Given the description of an element on the screen output the (x, y) to click on. 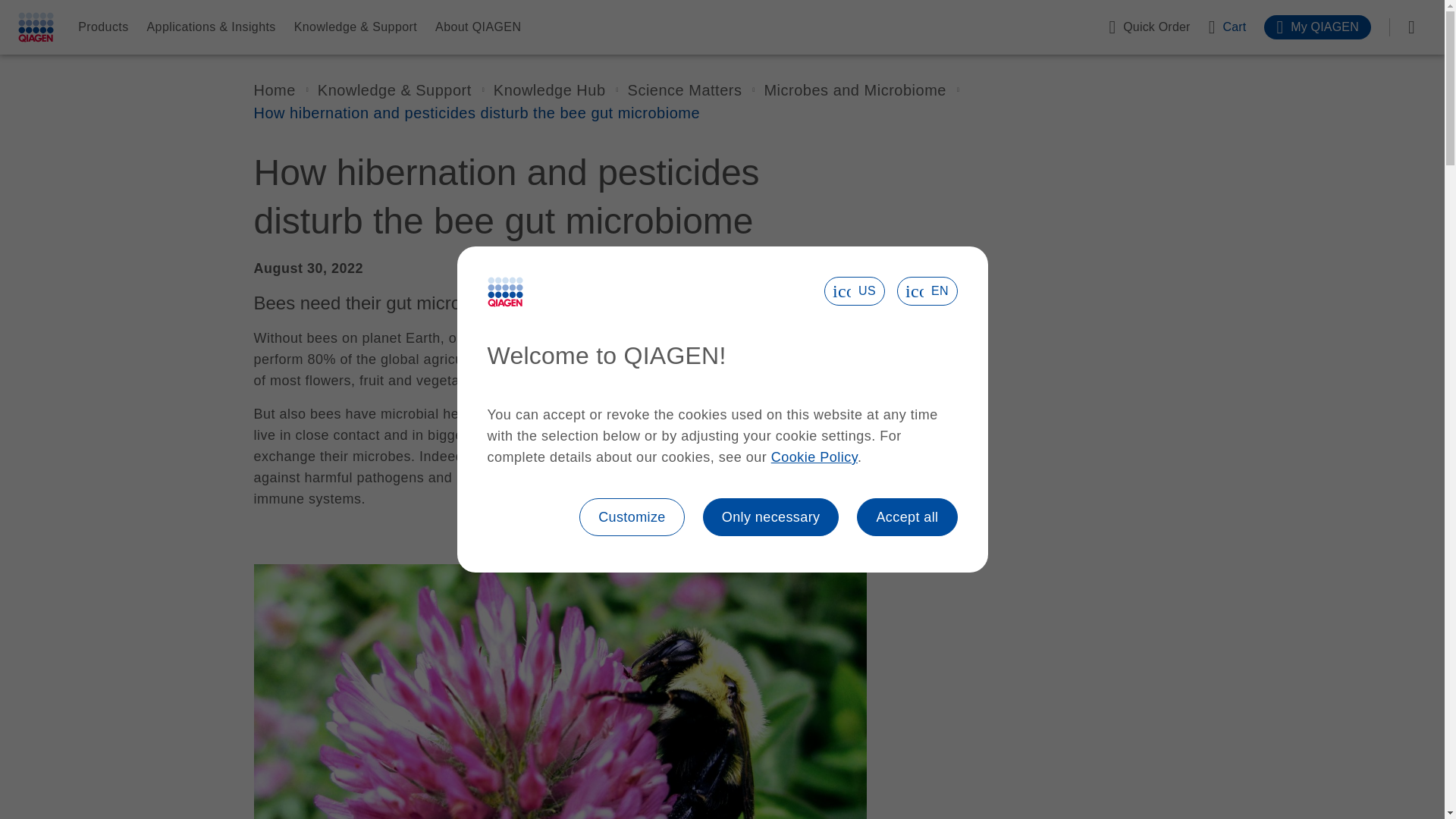
Products (103, 27)
My QIAGEN (1317, 27)
Science Matters (684, 89)
Microbes and Microbiome (853, 89)
Accept all (906, 516)
About QIAGEN (478, 27)
Customize (631, 516)
About QIAGEN (478, 27)
Knowledge and Support (394, 89)
Cart (1227, 27)
